Given the description of an element on the screen output the (x, y) to click on. 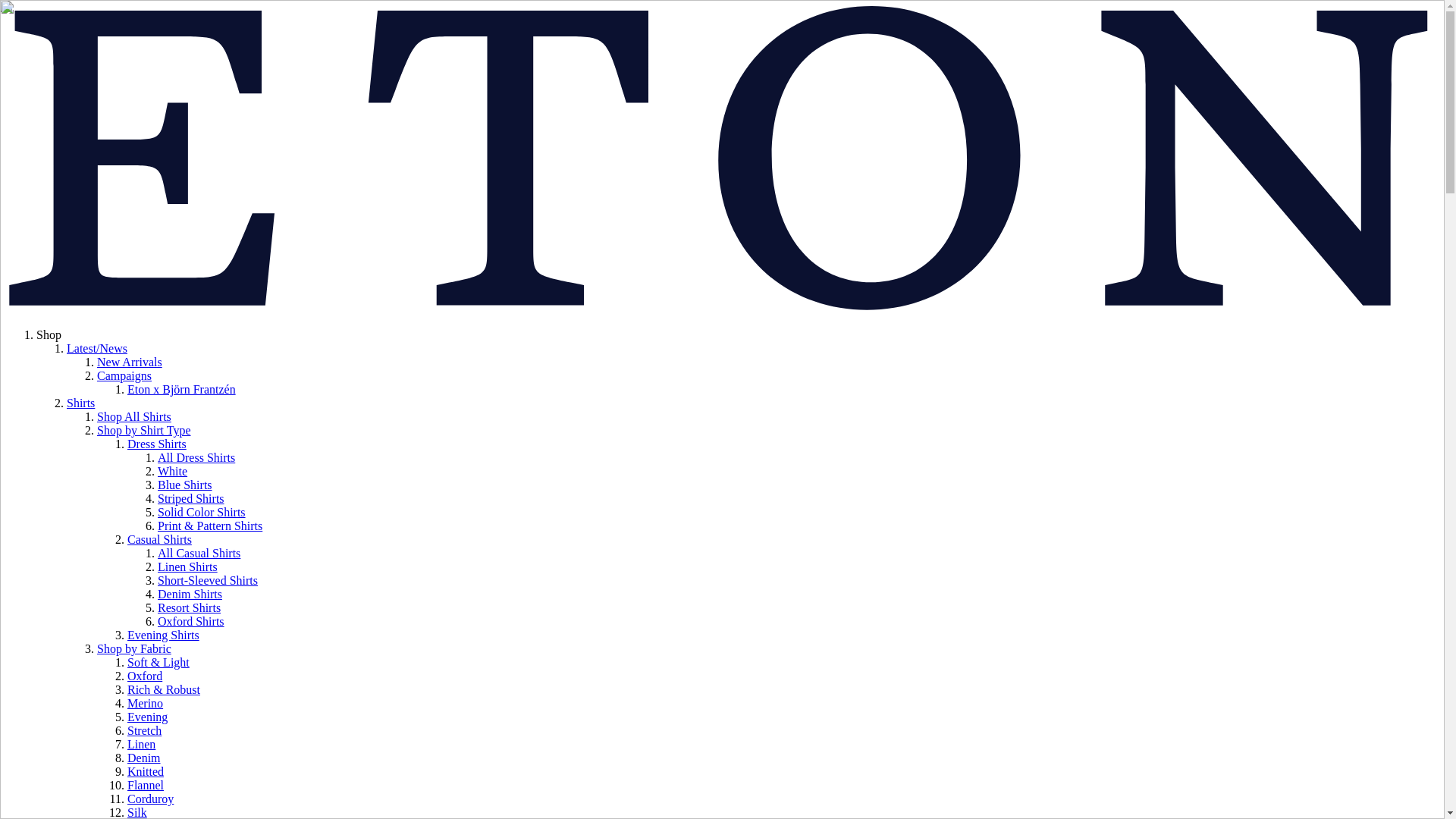
Blue Shirts (184, 484)
Linen Shirts (186, 566)
Dress Shirts (157, 443)
Evening Shirts (163, 634)
Oxford (144, 675)
Resort Shirts (189, 607)
Knitted (145, 771)
Merino (145, 703)
Solid Color Shirts (201, 512)
Flannel (145, 784)
